Given the description of an element on the screen output the (x, y) to click on. 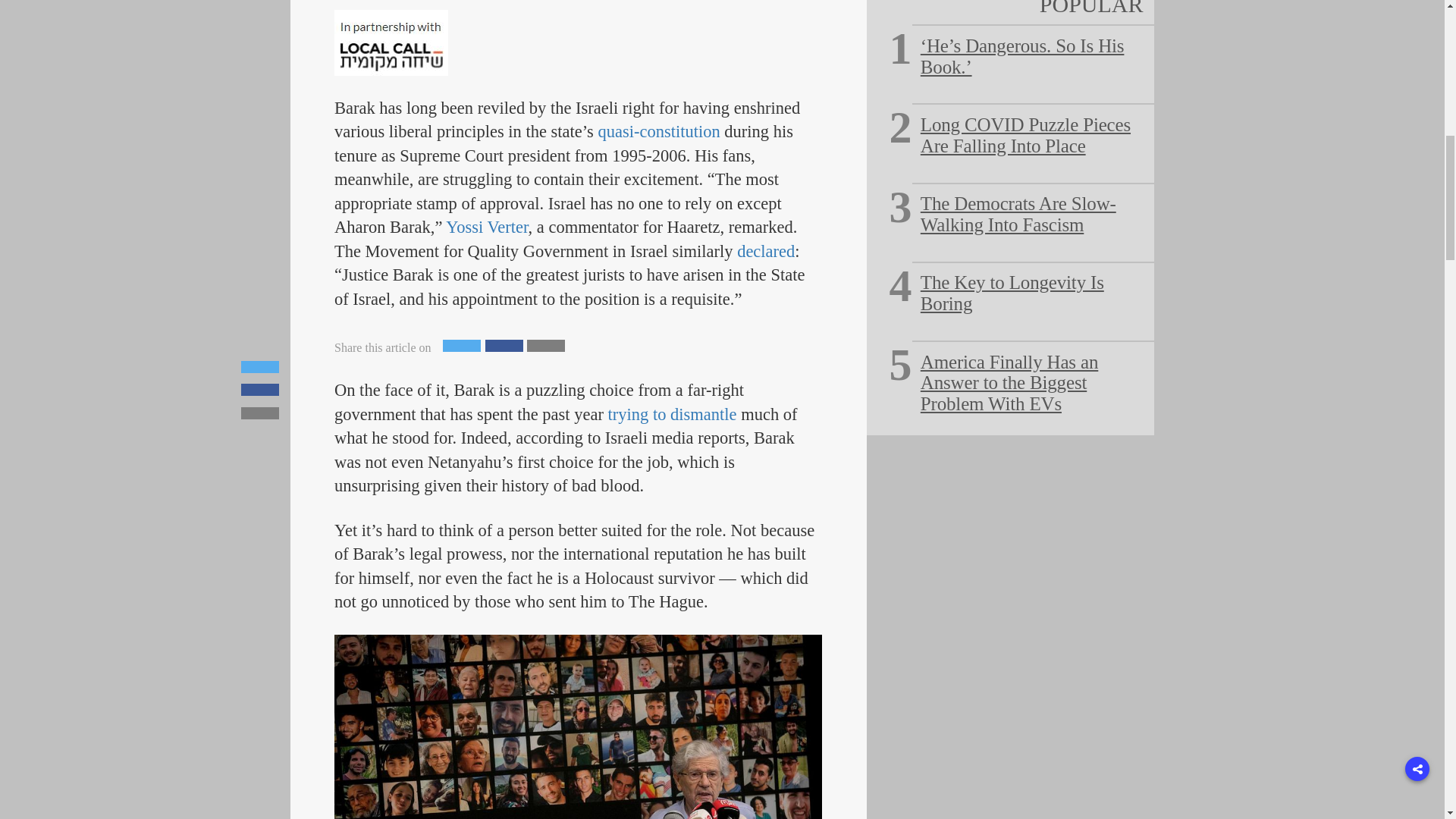
Twitter (461, 345)
Twitter (461, 345)
quasi-constitution (657, 131)
trying to dismantle (672, 414)
Mail (545, 345)
Facebook (503, 345)
Mail (545, 345)
declared (765, 251)
Yossi Verter (486, 226)
Facebook (503, 345)
